Given the description of an element on the screen output the (x, y) to click on. 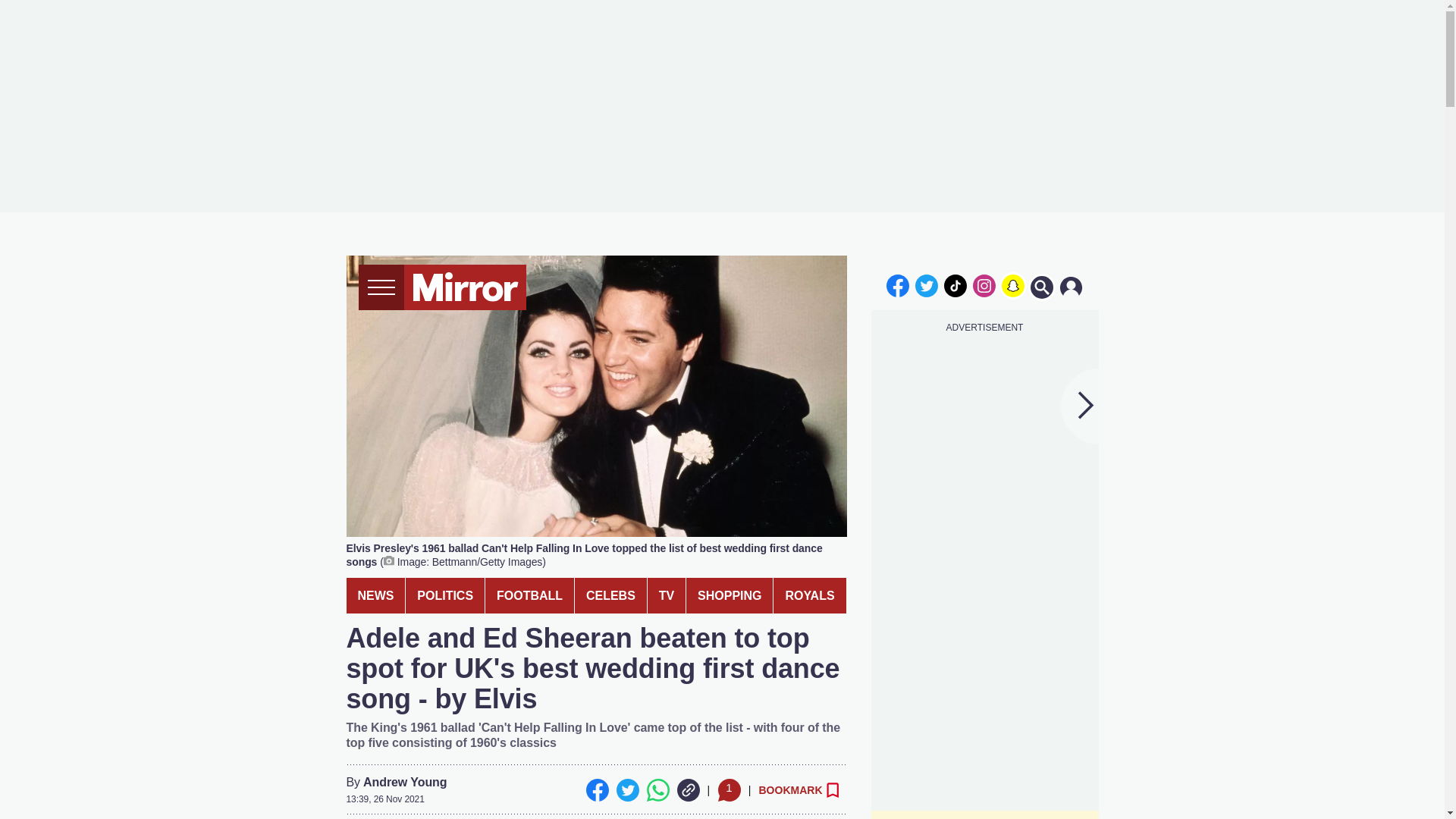
Facebook (596, 789)
Twitter (627, 789)
twitter (926, 285)
instagram (984, 285)
facebook (897, 285)
tiktok (955, 285)
snapchat (1012, 285)
